Given the description of an element on the screen output the (x, y) to click on. 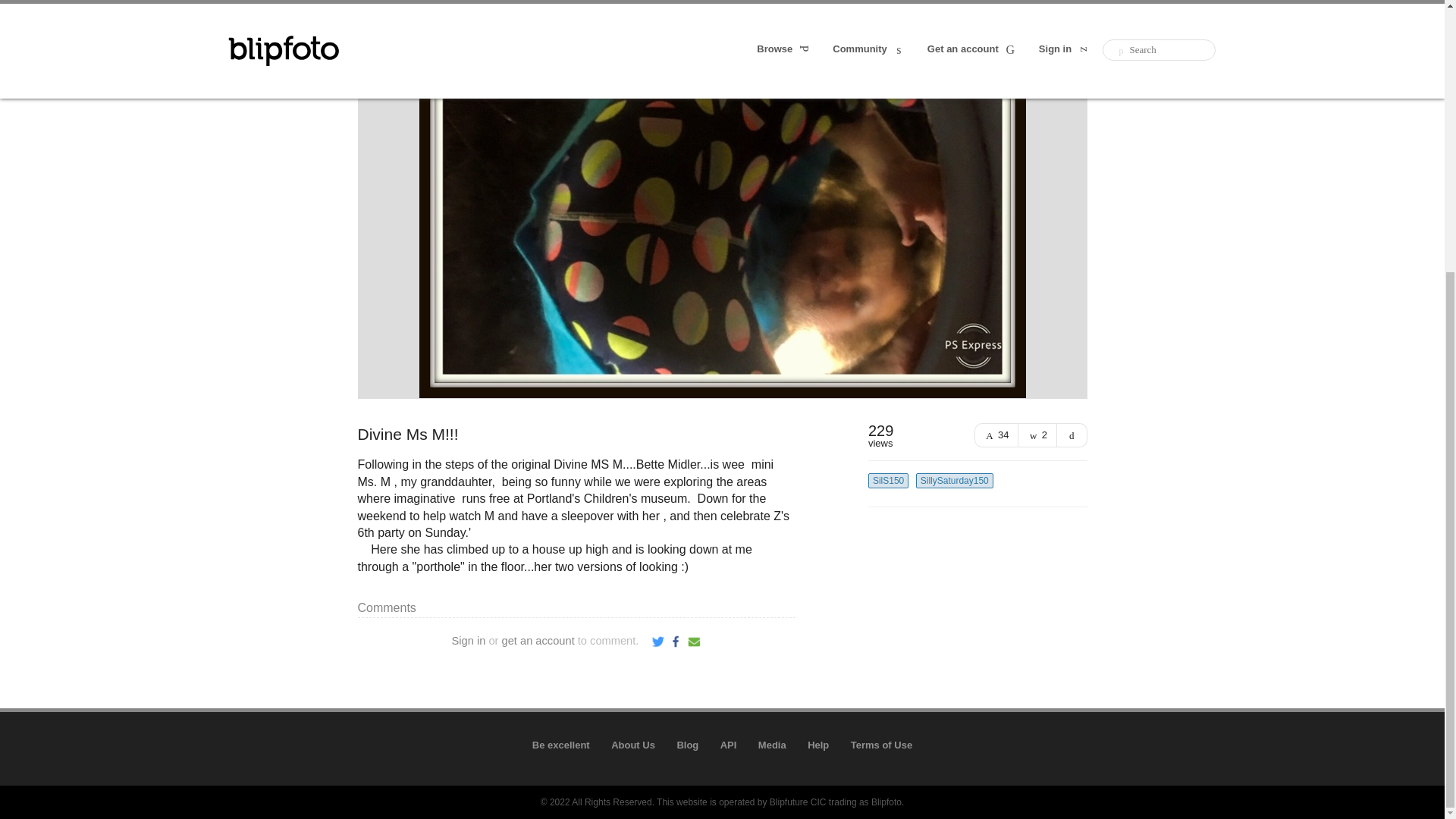
Sign in (468, 640)
Be excellent (560, 745)
About Us (633, 745)
SilS150 (887, 480)
Show large (1072, 435)
Help (818, 745)
Terms of Use (881, 745)
Media (772, 745)
get an account (538, 640)
SillySaturday150 (953, 480)
